Given the description of an element on the screen output the (x, y) to click on. 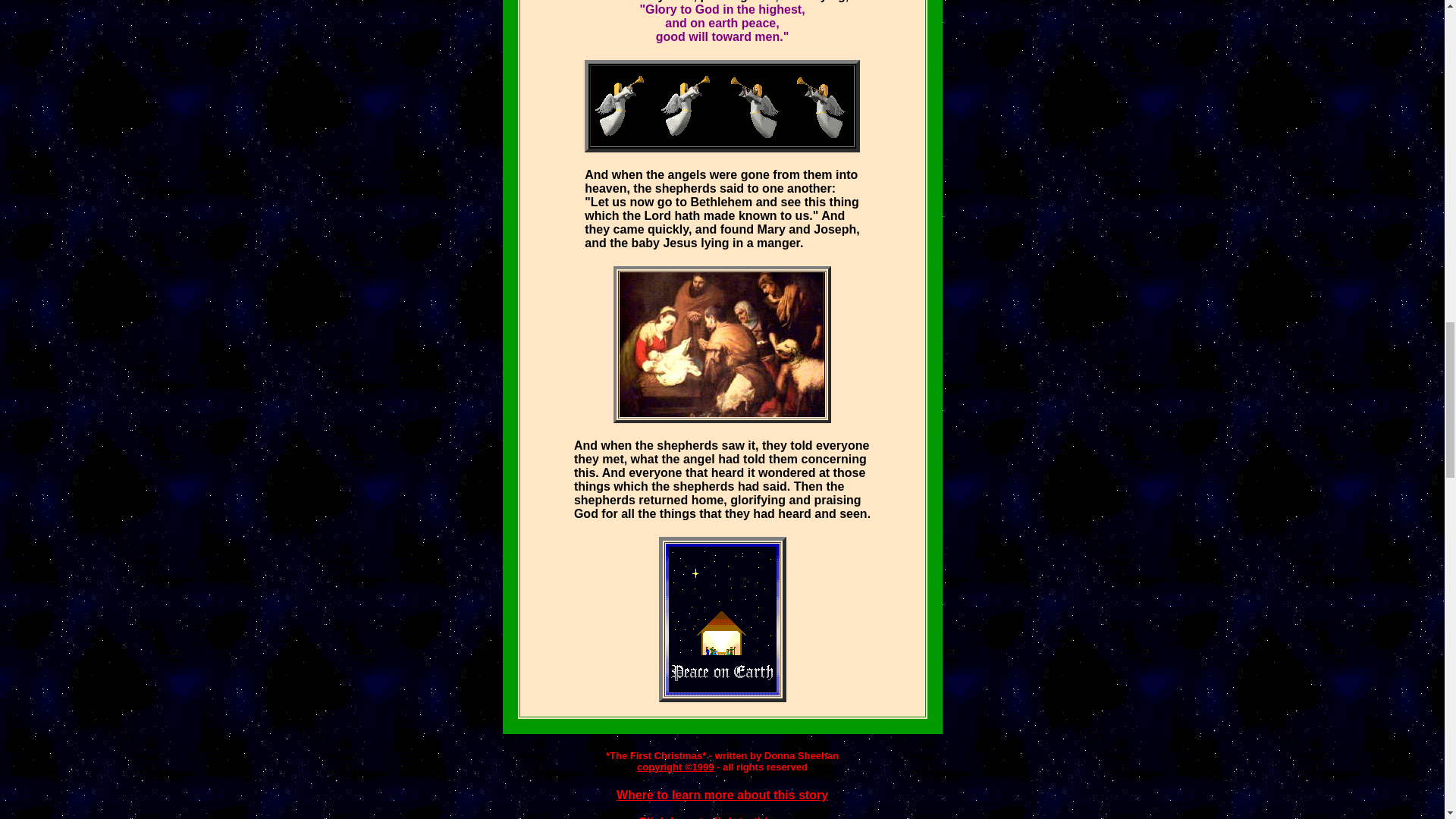
Where to learn more about this story (721, 794)
Click here to link to this page (721, 817)
